Given the description of an element on the screen output the (x, y) to click on. 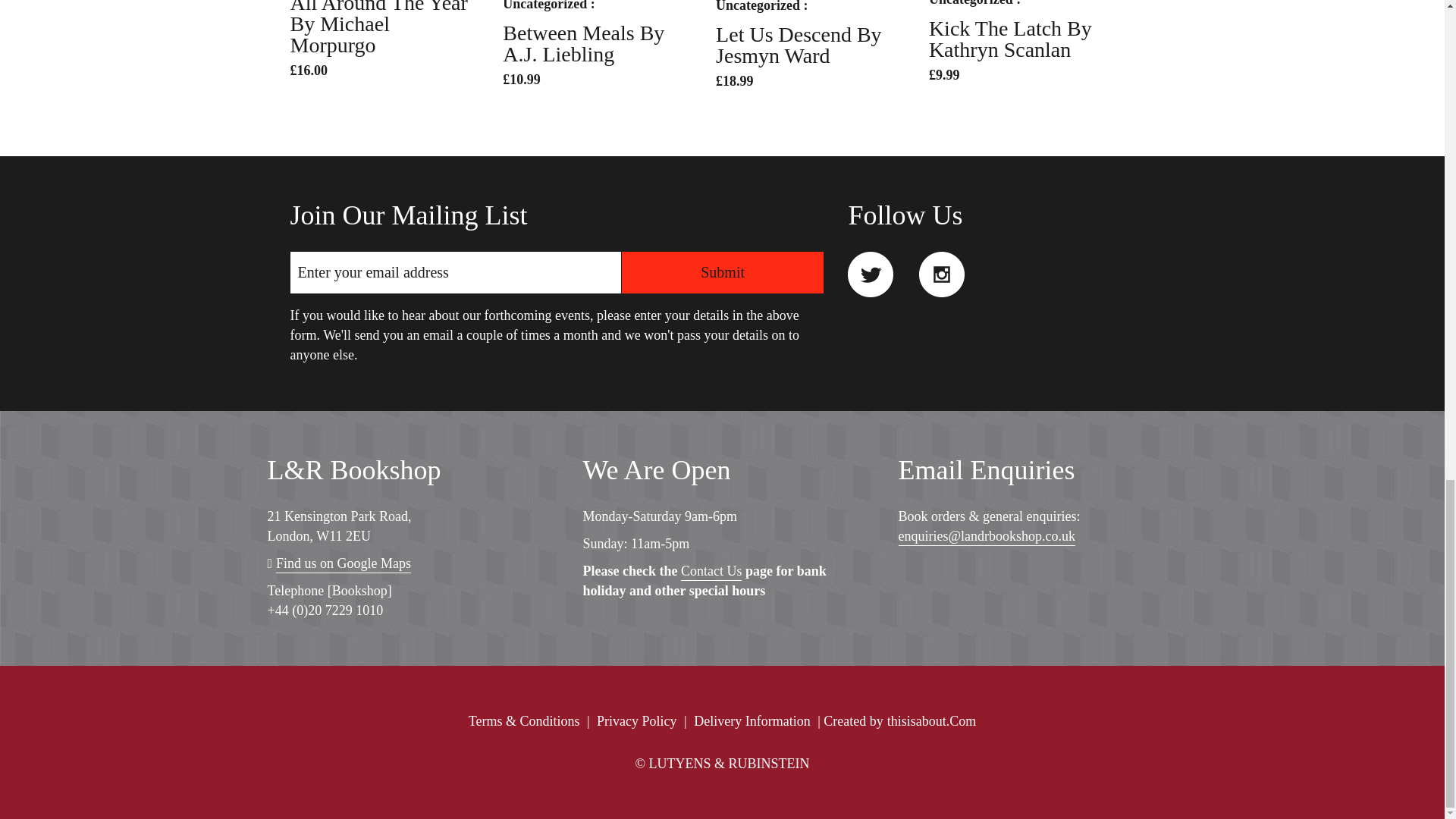
Submit (722, 272)
Thisisabout.Com (931, 720)
Between Meals By A.J. Liebling (582, 43)
Find us on Google Maps (343, 564)
Contact Us (711, 571)
Let Us Descend By Jesmyn Ward (799, 44)
Delivery Information (751, 720)
All Around The Year By Michael Morpurgo (378, 28)
Kick The Latch By Kathryn Scanlan (1010, 38)
Submit (722, 272)
Privacy Policy (636, 720)
